Given the description of an element on the screen output the (x, y) to click on. 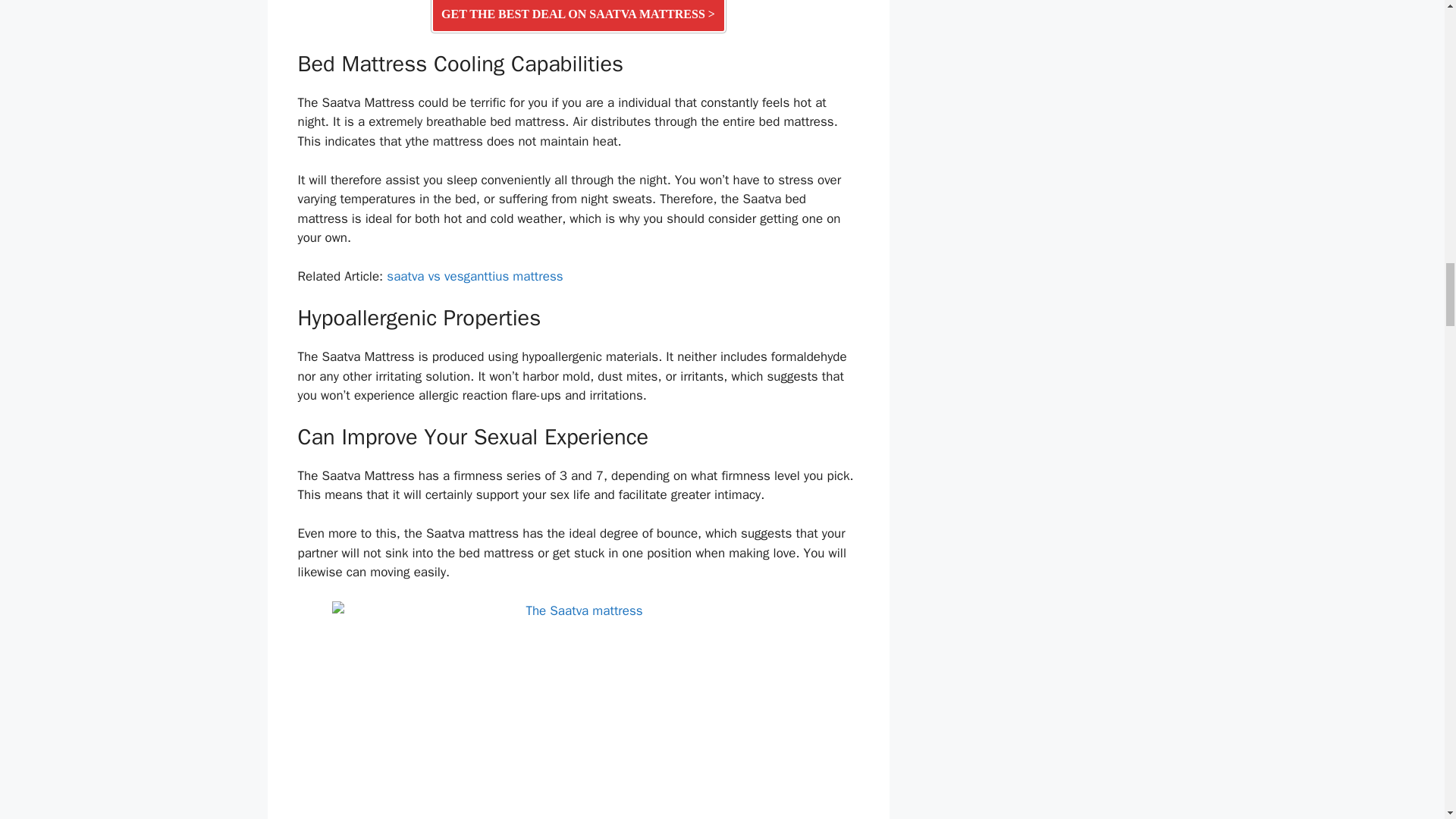
saatva vs vesganttius mattress (474, 276)
